Given the description of an element on the screen output the (x, y) to click on. 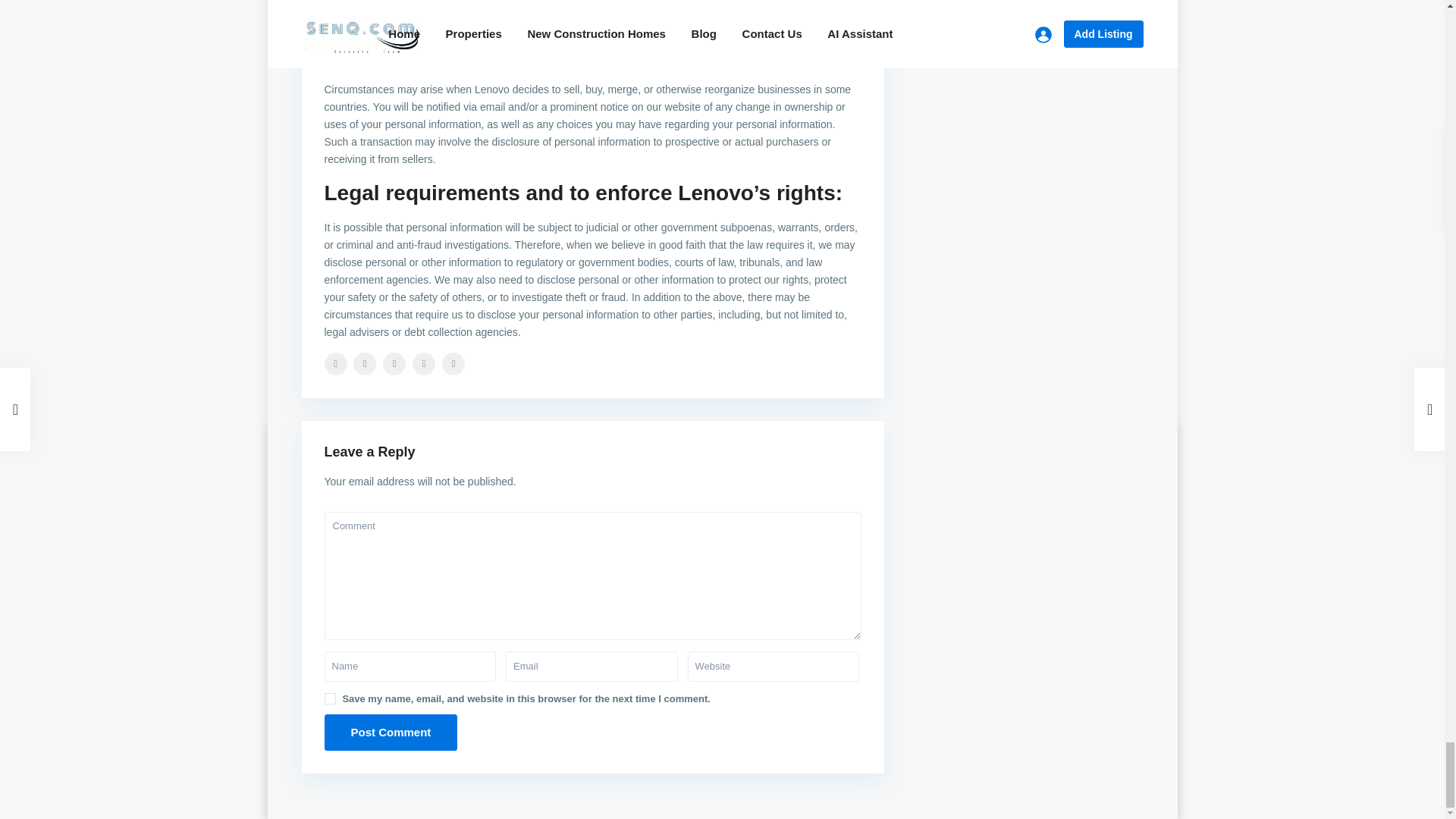
Post Comment (391, 732)
yes (330, 698)
